Given the description of an element on the screen output the (x, y) to click on. 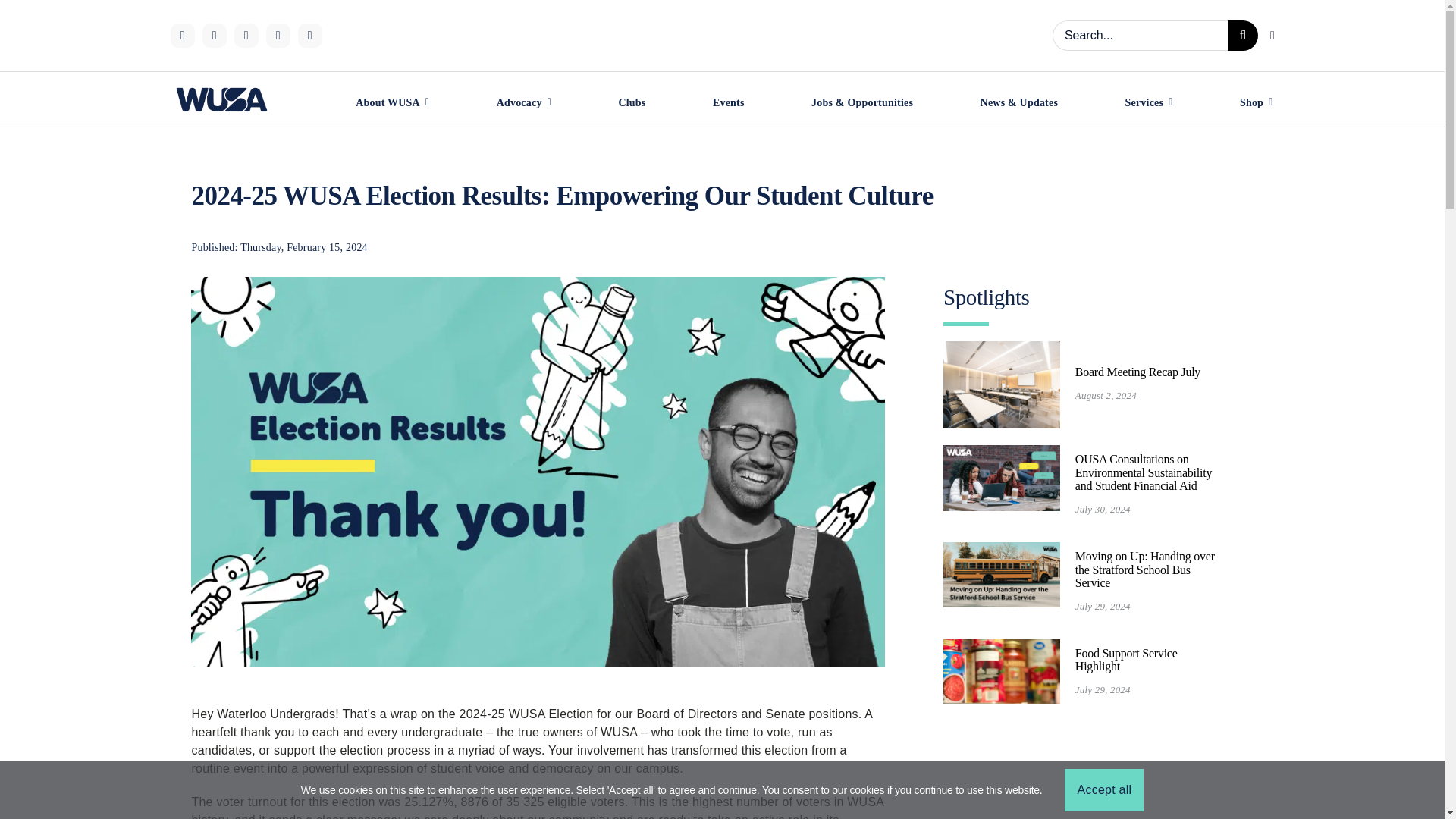
X (244, 34)
LinkedIn (276, 34)
Tiktok (213, 34)
Advocacy (524, 105)
About WUSA (391, 105)
YouTube (309, 34)
Instagram (181, 34)
